Given the description of an element on the screen output the (x, y) to click on. 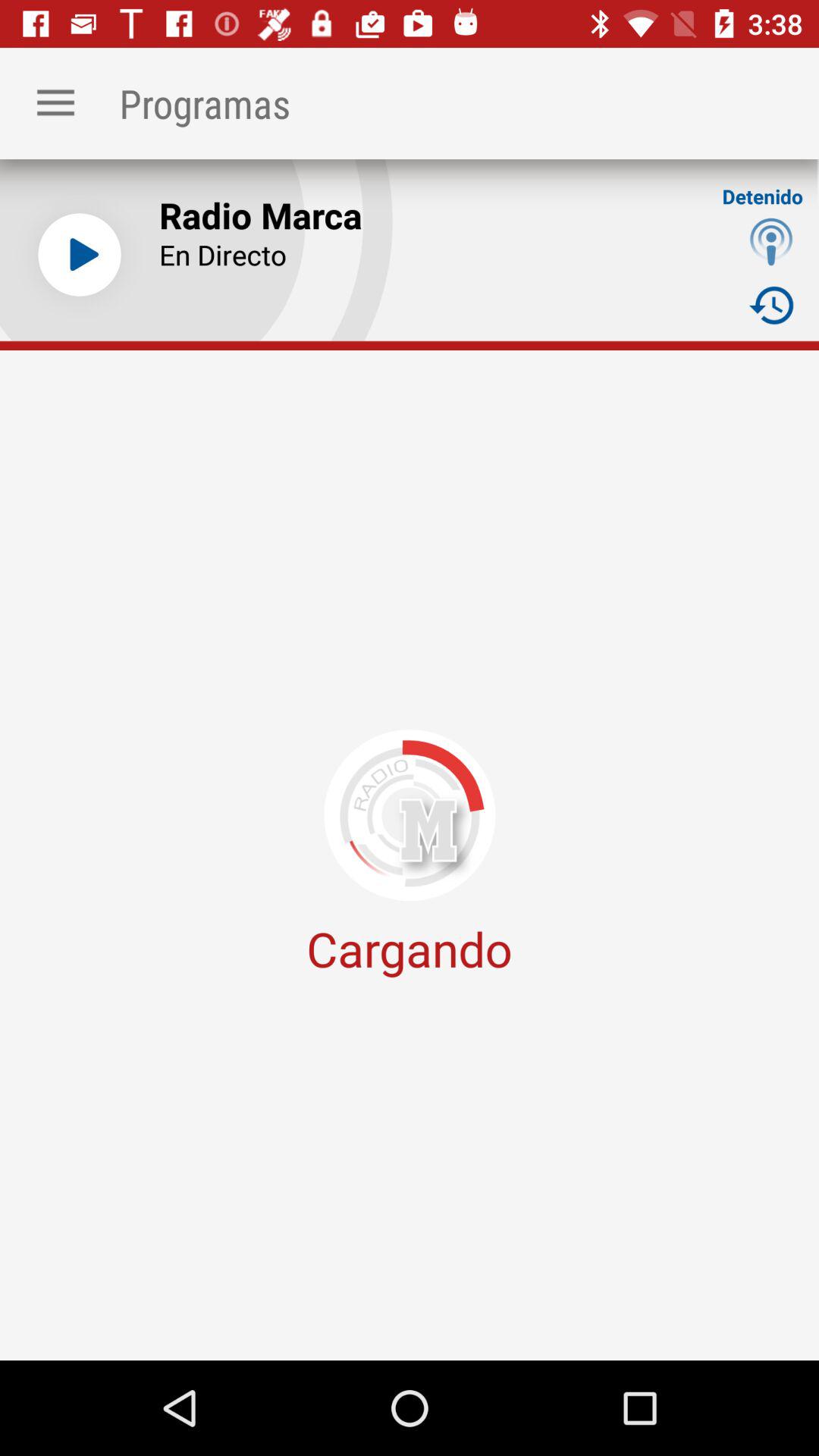
select the app to the left of programas item (55, 103)
